Given the description of an element on the screen output the (x, y) to click on. 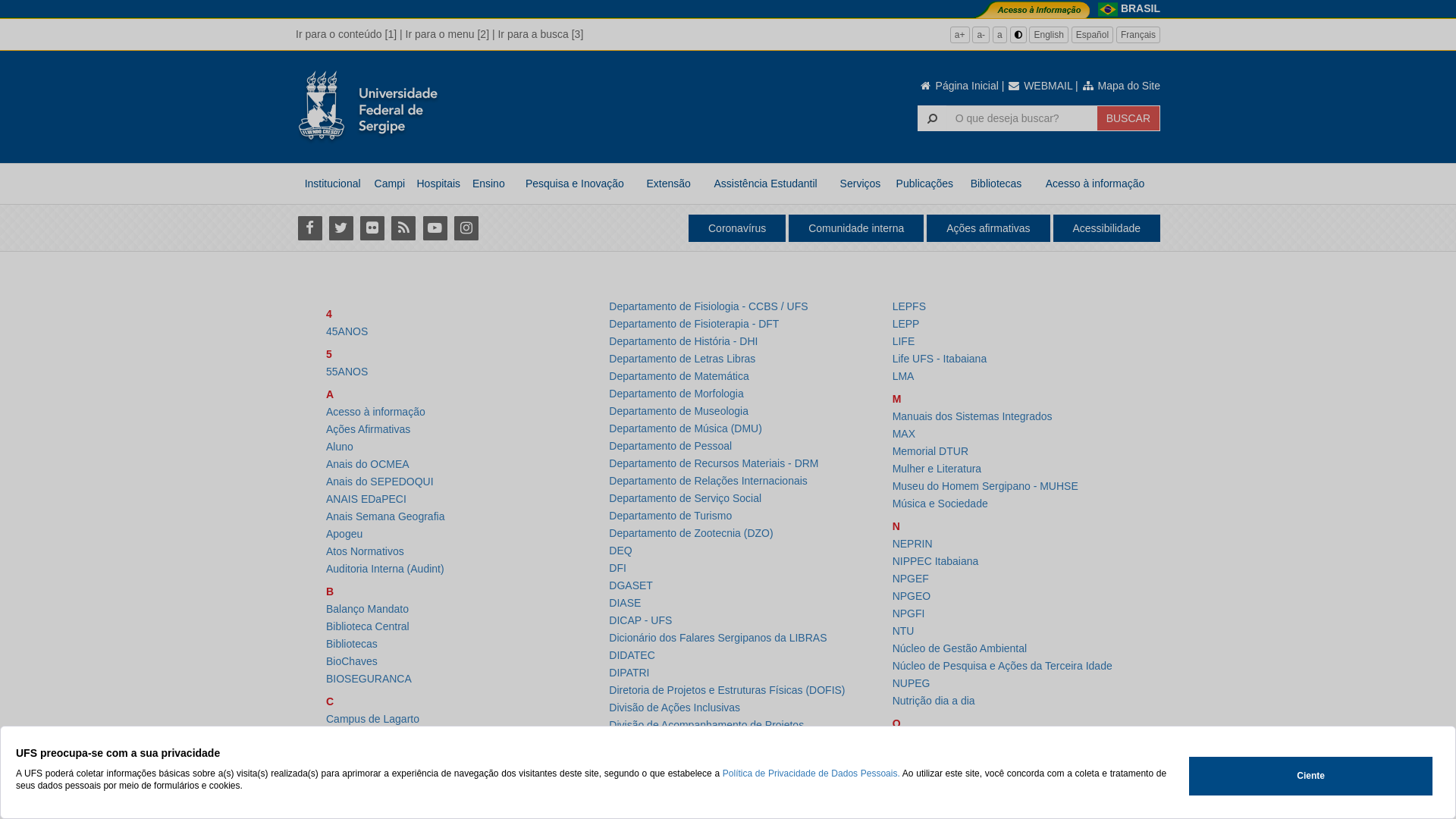
WEBMAIL Element type: text (1039, 85)
Twitter Element type: text (340, 227)
Departamento de Morfologia Element type: text (675, 393)
LEPP Element type: text (905, 323)
NEPRIN Element type: text (912, 543)
NPGEO Element type: text (911, 595)
Departamento de Zootecnia (DZO) Element type: text (690, 533)
DFI Element type: text (617, 567)
Apogeu Element type: text (344, 533)
a+ Element type: text (959, 34)
RSS Element type: text (403, 227)
Anais Semana Geografia Element type: text (385, 516)
LIFE Element type: text (903, 341)
Museu do Homem Sergipano - MUHSE Element type: text (985, 486)
Anais do OCMEA Element type: text (367, 464)
Departamento de Recursos Materiais - DRM Element type: text (713, 463)
Youtube Element type: text (434, 227)
Mulher e Literatura Element type: text (937, 468)
Departamento de Turismo Element type: text (669, 515)
ANAIS EDaPECI Element type: text (366, 498)
Aluno Element type: text (339, 446)
Departamento de Pessoal Element type: text (669, 445)
BRASIL Element type: text (1140, 8)
Comunidade interna Element type: text (855, 227)
Biblioteca Central Element type: text (367, 626)
Memorial DTUR Element type: text (930, 451)
55ANOS Element type: text (346, 371)
Ir para a busca [3] Element type: text (540, 34)
Instagram Element type: text (465, 227)
NTU Element type: text (903, 630)
Campus de Lagarto Element type: text (372, 718)
English Element type: text (1048, 34)
LEPFS Element type: text (908, 306)
OFICIAIS Element type: text (915, 775)
a Element type: text (999, 34)
Hospitais Element type: text (438, 183)
Ir para o menu [2] Element type: text (447, 34)
Departamento de Letras Libras Element type: text (681, 358)
Departamento de Museologia Element type: text (678, 410)
DIPATRI Element type: text (628, 672)
Atos Normativos Element type: text (365, 551)
BUSCAR Element type: text (1128, 118)
DIDATEC Element type: text (631, 655)
DGASET Element type: text (630, 585)
Life UFS - Itabaiana Element type: text (939, 358)
DEQ Element type: text (619, 550)
CCV Element type: text (337, 806)
Flickr Element type: text (371, 227)
Ensino Element type: text (488, 183)
Bibliotecas Element type: text (351, 643)
45ANOS Element type: text (346, 331)
DICAP - UFS Element type: text (639, 620)
Acessibilidade Element type: text (1106, 227)
NPGEF Element type: text (910, 578)
Mapa do Site Element type: text (1120, 85)
Departamento de Fisiologia - CCBS / UFS Element type: text (707, 306)
DMA Element type: text (620, 794)
DIASE Element type: text (624, 602)
NUPEG Element type: text (911, 683)
Departamento de Fisioterapia - DFT Element type: text (693, 323)
Anais do SEPEDOQUI Element type: text (379, 481)
LMA Element type: text (903, 376)
Campi Element type: text (389, 183)
Institucional Element type: text (332, 183)
a- Element type: text (980, 34)
OCMEA Element type: text (911, 758)
BIOSEGURANCA Element type: text (368, 678)
Bibliotecas Element type: text (995, 183)
NPGFI Element type: text (908, 613)
Manuais dos Sistemas Integrados Element type: text (972, 416)
DLES Element type: text (622, 777)
Auditoria Interna (Audint) Element type: text (385, 568)
NIPPEC Itabaiana Element type: text (935, 561)
MAX Element type: text (903, 433)
Campus Rural Element type: text (359, 753)
Facebook Element type: text (309, 227)
BioChaves Element type: text (351, 661)
DMAI Element type: text (621, 812)
